Given the description of an element on the screen output the (x, y) to click on. 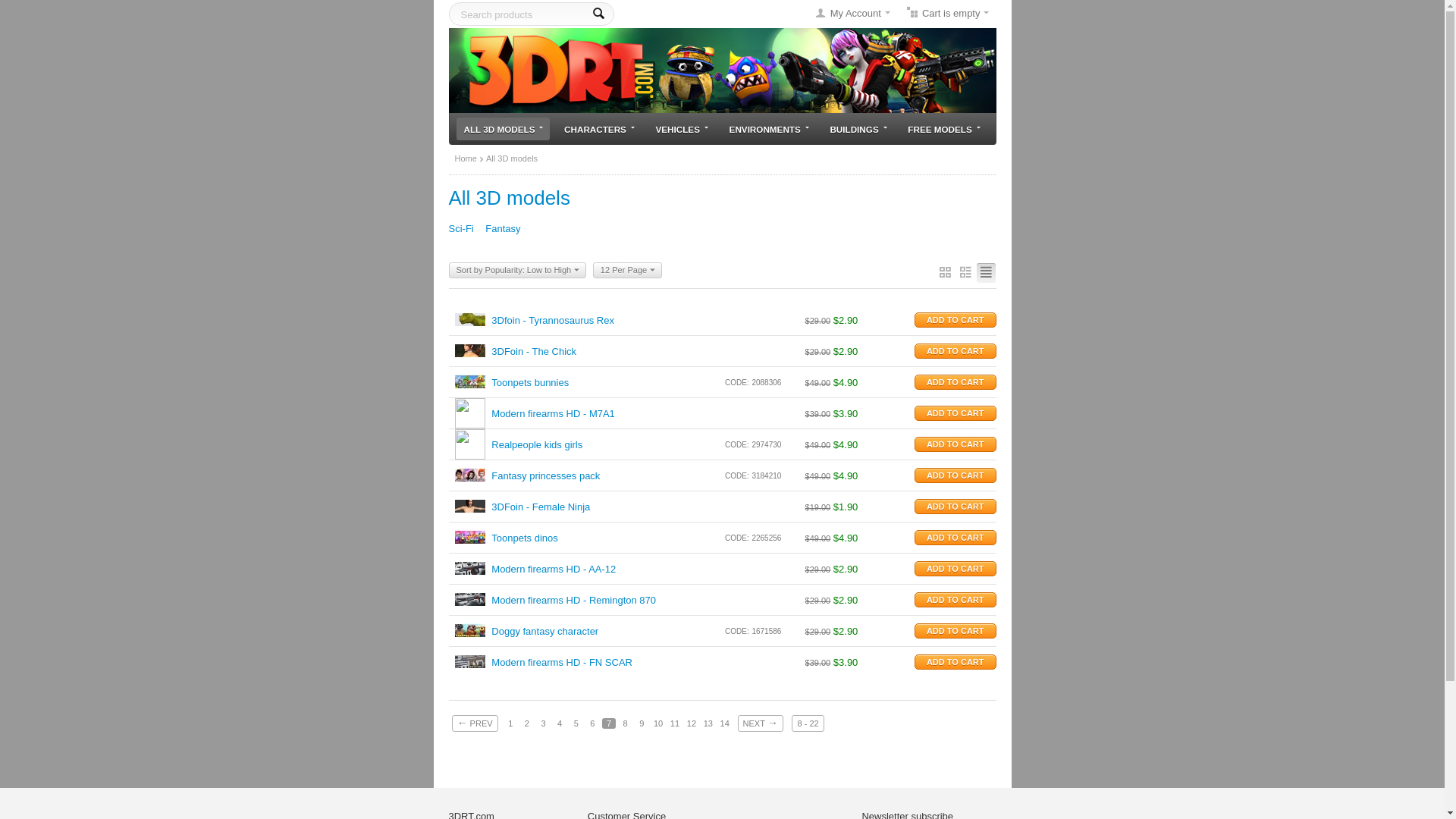
13 Element type: text (708, 723)
Doggy fantasy character Element type: text (544, 631)
Add to Cart Element type: text (955, 599)
14 Element type: text (724, 723)
Add to Cart Element type: text (955, 661)
Modern firearms HD - AA-12 Element type: text (553, 568)
My Account Element type: text (848, 12)
11 Element type: text (674, 723)
9 Element type: text (641, 723)
3 Element type: text (543, 723)
8 Element type: text (625, 723)
3drt models for game developers Element type: hover (722, 69)
Modern firearms HD - M7A1 Element type: text (553, 413)
BUILDINGS Element type: text (857, 128)
12 Per Page Element type: text (627, 270)
Add to Cart Element type: text (955, 413)
Add to Cart Element type: text (955, 537)
Search Element type: hover (598, 13)
3DFoin - The Chick Element type: text (533, 351)
Sort by Popularity: Low to High Element type: text (516, 270)
2 Element type: text (526, 723)
Modern firearms HD - Remington 870 Element type: text (573, 599)
ALL 3D MODELS Element type: text (503, 128)
Sci-Fi Element type: text (461, 228)
Add to Cart Element type: text (955, 506)
1 Element type: text (510, 723)
Fantasy princesses pack Element type: text (545, 475)
Add to Cart Element type: text (955, 382)
4 Element type: text (559, 723)
Add to Cart Element type: text (955, 475)
Realpeople kids girls Element type: text (536, 444)
10 Element type: text (658, 723)
Add to Cart Element type: text (955, 630)
Toonpets dinos Element type: text (524, 537)
3Dfoin - Tyrannosaurus Rex Element type: text (552, 320)
Modern firearms HD - FN SCAR Element type: text (561, 662)
Toonpets bunnies Element type: text (529, 382)
8 - 22 Element type: text (807, 723)
Add to Cart Element type: text (955, 319)
Fantasy Element type: text (502, 228)
6 Element type: text (592, 723)
5 Element type: text (576, 723)
Search products Element type: hover (531, 13)
Add to Cart Element type: text (955, 568)
FREE MODELS Element type: text (943, 128)
Add to Cart Element type: text (955, 444)
ENVIRONMENTS Element type: text (768, 128)
12 Element type: text (691, 723)
Home Element type: text (465, 158)
Cart is empty Element type: text (946, 13)
3DFoin - Female Ninja Element type: text (540, 506)
VEHICLES Element type: text (681, 128)
Add to Cart Element type: text (955, 350)
CHARACTERS Element type: text (598, 128)
